Given the description of an element on the screen output the (x, y) to click on. 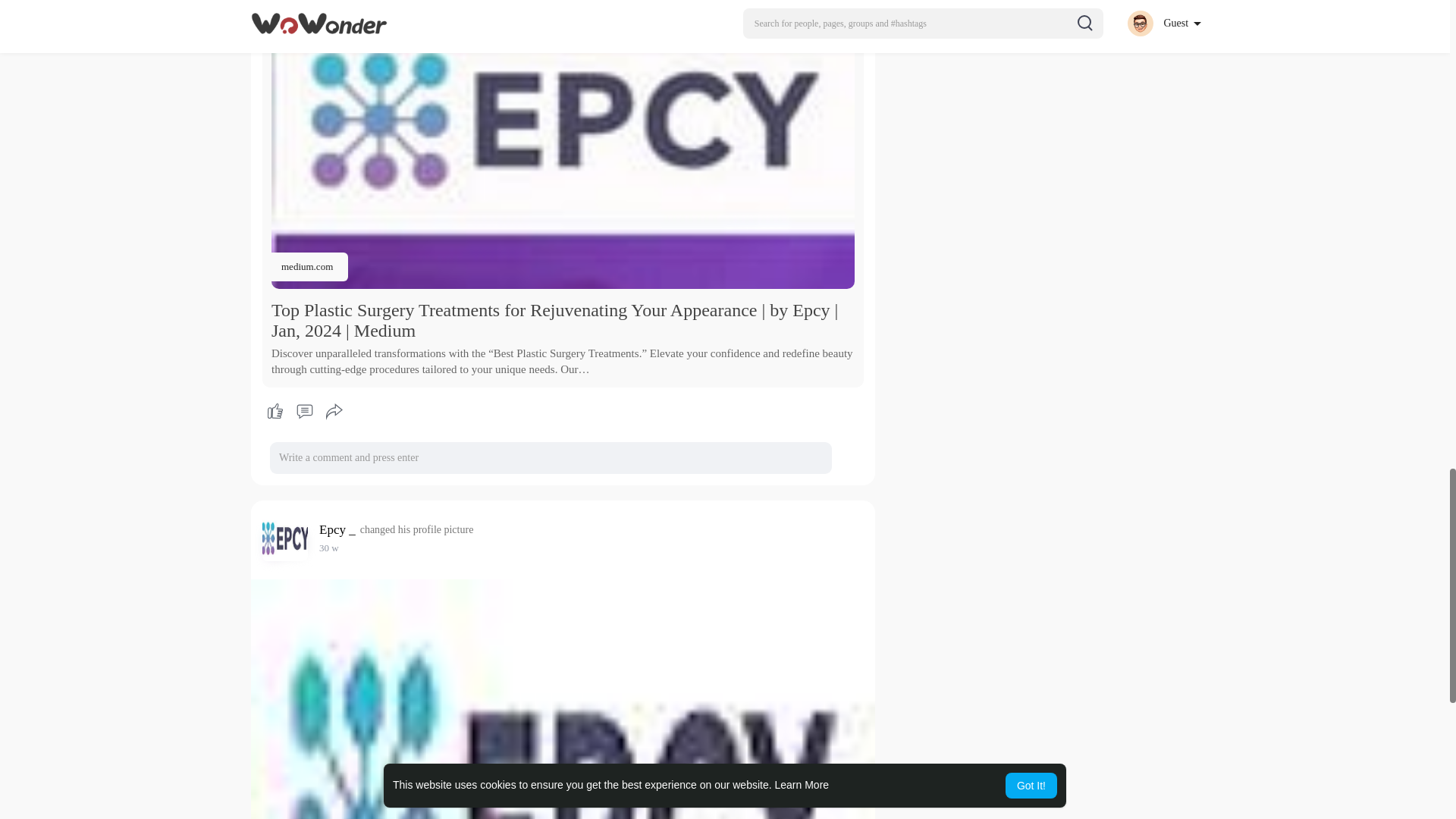
Share (334, 411)
30 w (328, 547)
30 w (328, 547)
Comments (304, 411)
